Given the description of an element on the screen output the (x, y) to click on. 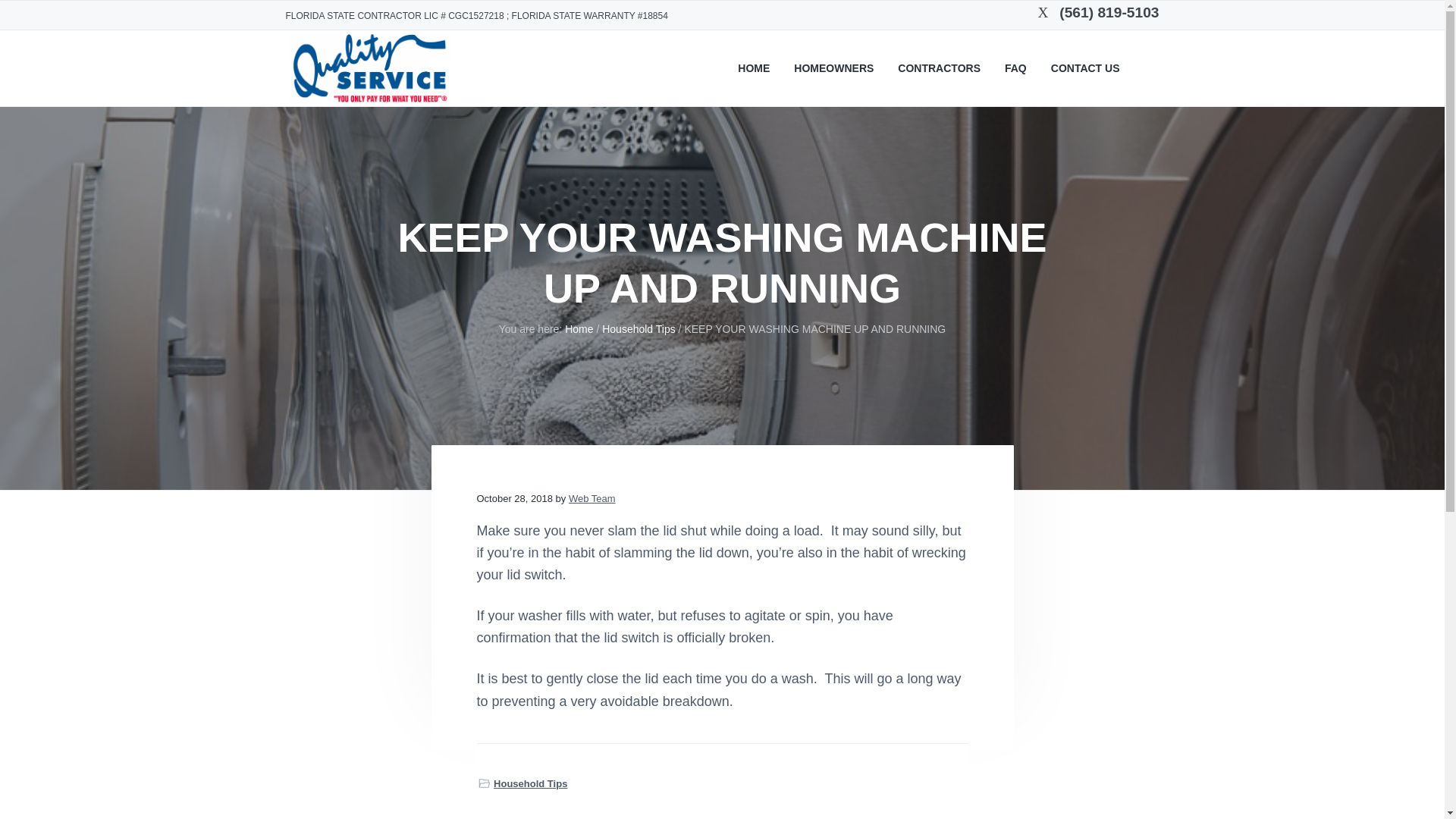
CONTACT US (1085, 67)
FAQ (1015, 67)
CONTRACTORS (938, 67)
Household Tips (638, 328)
Web Team (592, 498)
Home (578, 328)
Household Tips (530, 783)
HOMEOWNERS (833, 67)
HOME (754, 67)
